Given the description of an element on the screen output the (x, y) to click on. 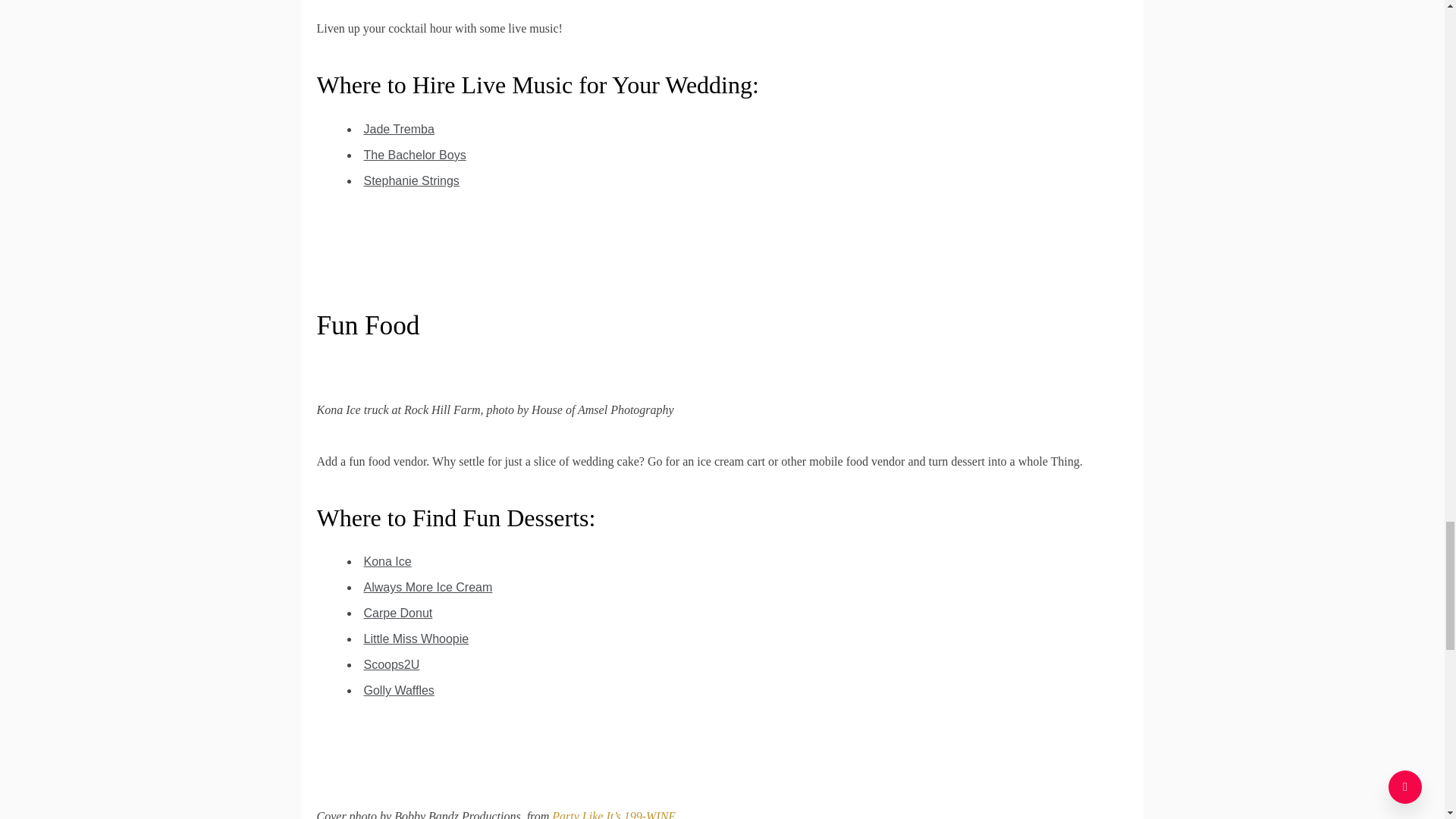
Kona Ice (388, 561)
Jade Tremba (398, 128)
The Bachelor Boys (414, 154)
Stephanie Strings (412, 180)
